Given the description of an element on the screen output the (x, y) to click on. 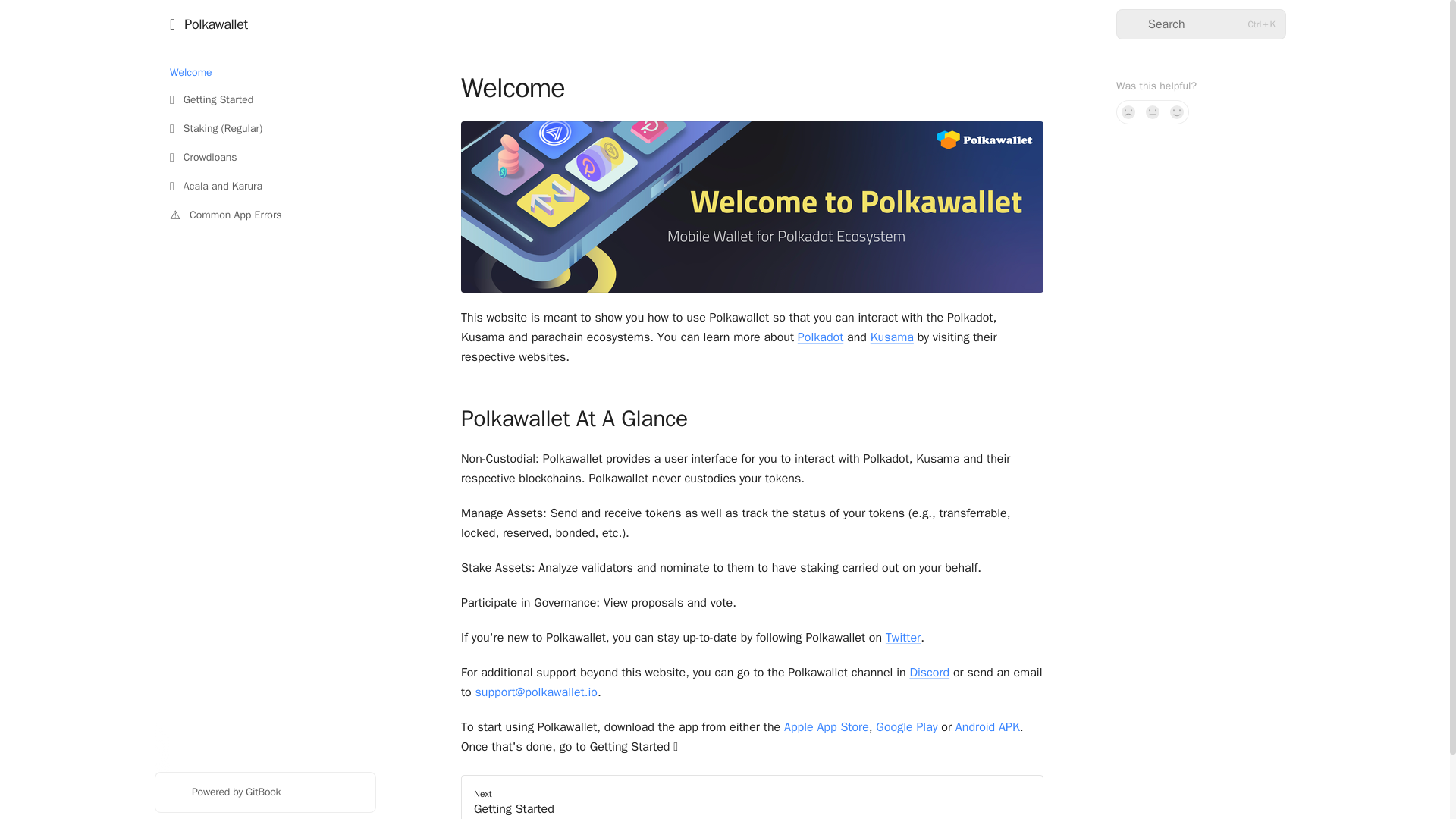
Powered by GitBook (264, 792)
Not sure (1152, 111)
Yes, it was! (1176, 111)
No (1128, 111)
Welcome (264, 72)
Polkadot (820, 337)
